Given the description of an element on the screen output the (x, y) to click on. 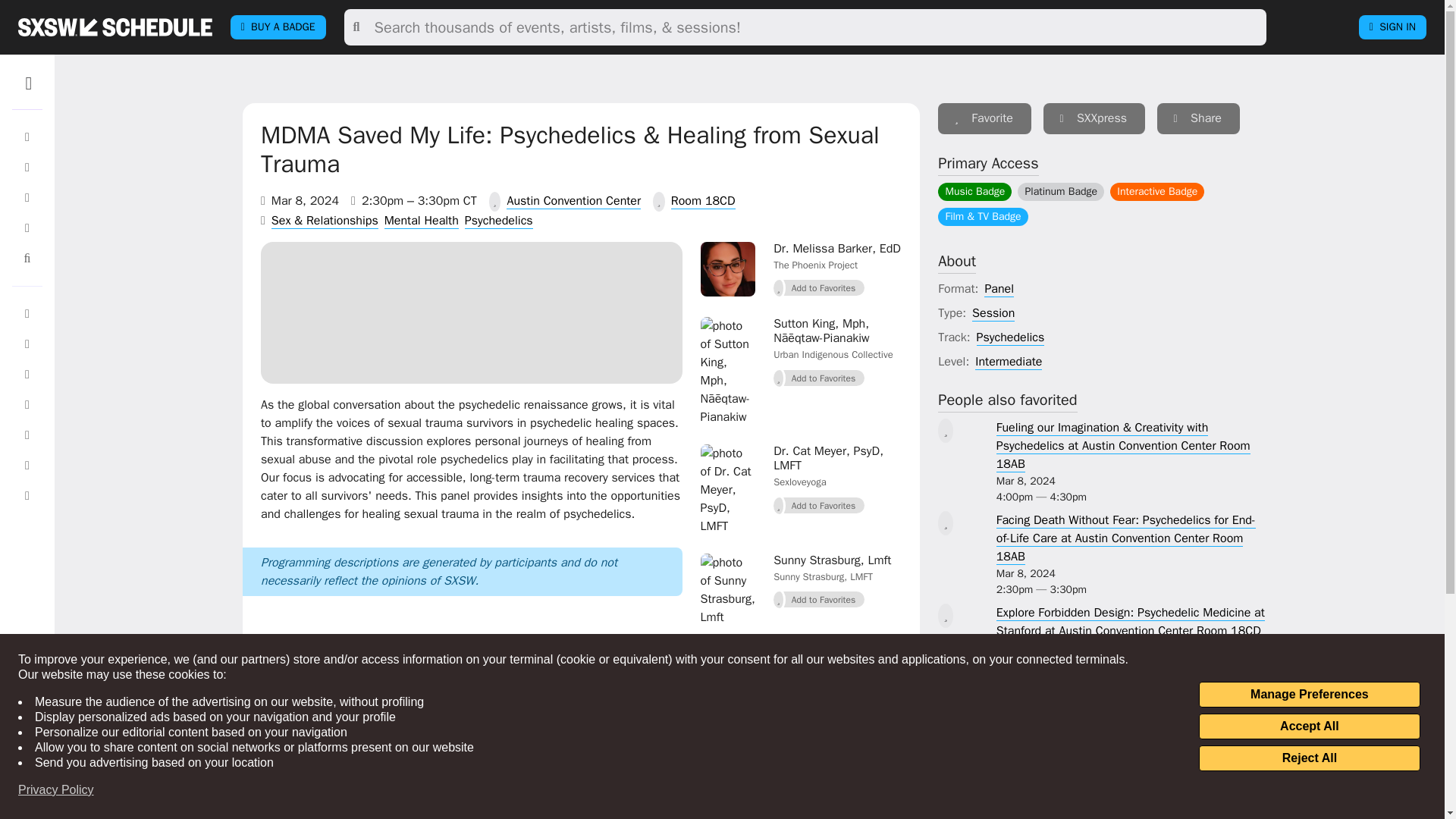
Reject All (1309, 758)
Sign In to add to your favorites. (818, 287)
BUY A BADGE (278, 27)
Sign In to add to your favorites. (818, 378)
Sign In to add to your favorites. (818, 599)
Austin Convention Center (573, 201)
Accept All (1309, 726)
Sign In to add to your favorites. (818, 505)
Sign In to add to your favorites. (983, 118)
Privacy Policy (55, 789)
SIGN IN (1392, 27)
Manage Preferences (1309, 694)
sxsw SCHEDULE (114, 27)
